Given the description of an element on the screen output the (x, y) to click on. 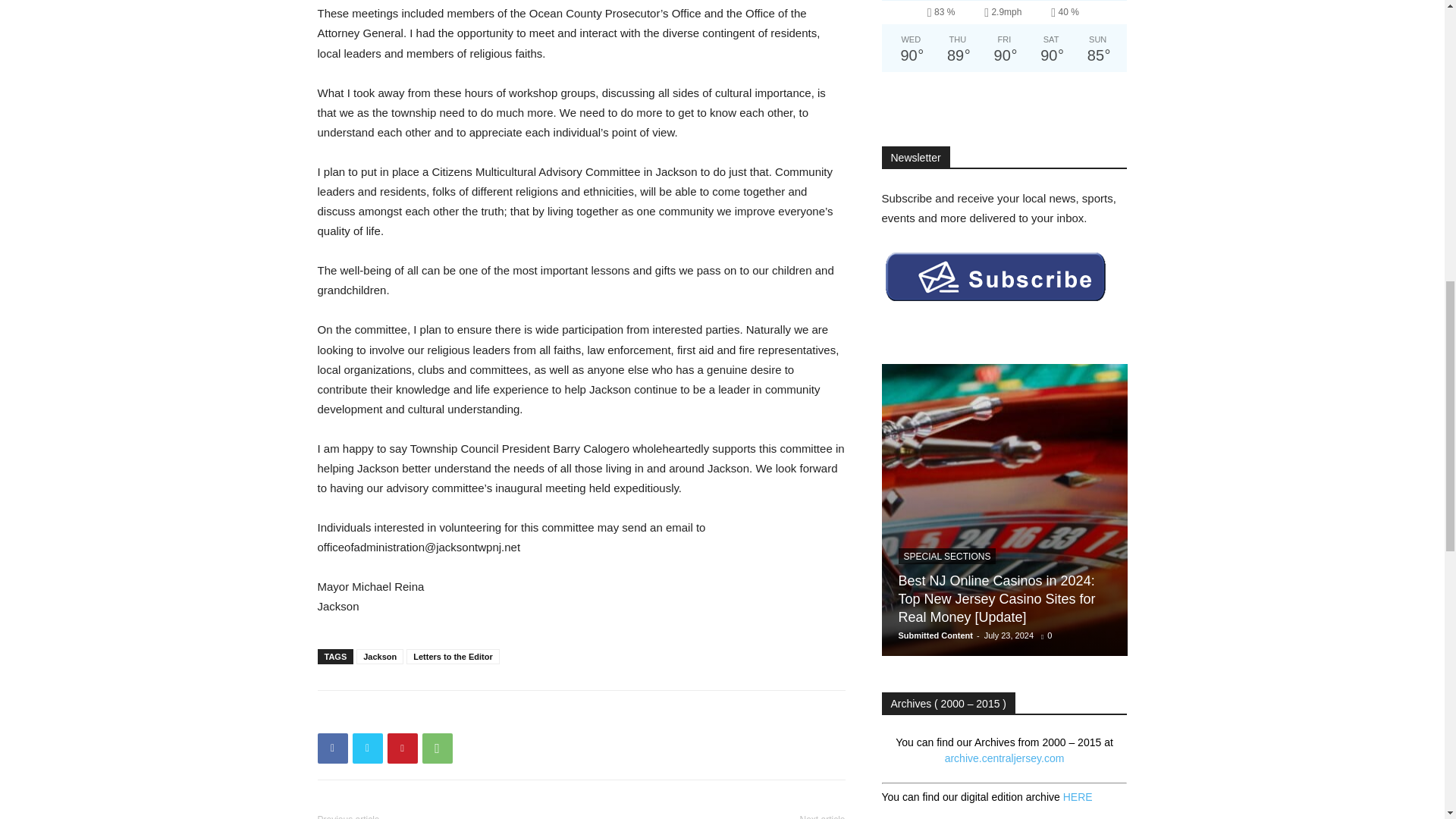
bottomFacebookLike (430, 714)
Facebook (332, 748)
Pinterest (401, 748)
WhatsApp (436, 748)
Twitter (366, 748)
